Given the description of an element on the screen output the (x, y) to click on. 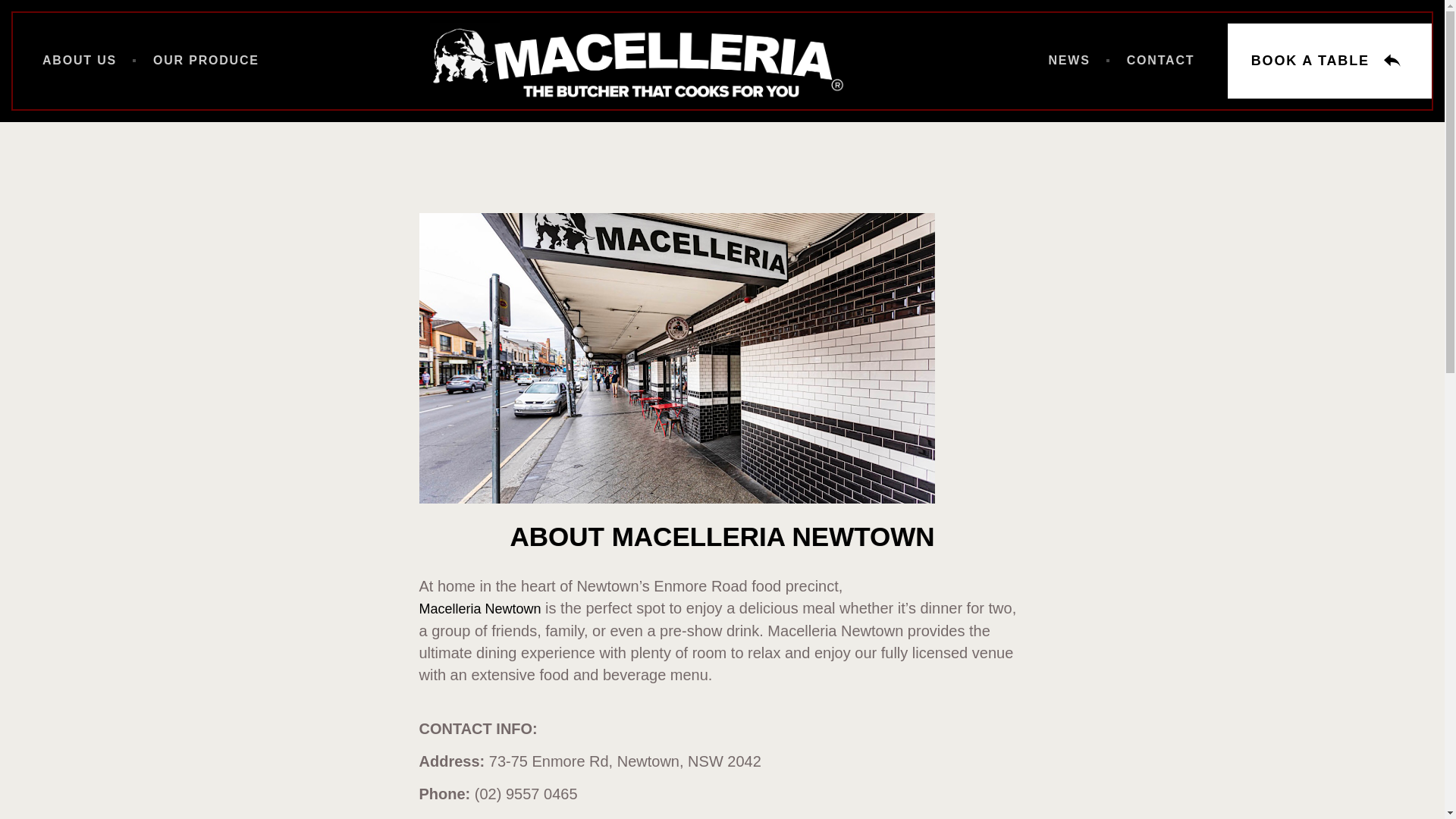
OUR PRODUCE Element type: text (205, 60)
BOOK A TABLE Element type: text (1329, 60)
ABOUT US Element type: text (79, 60)
NEWS Element type: text (1068, 60)
CONTACT Element type: text (1160, 60)
Macelleria Newtown Element type: text (479, 608)
